Given the description of an element on the screen output the (x, y) to click on. 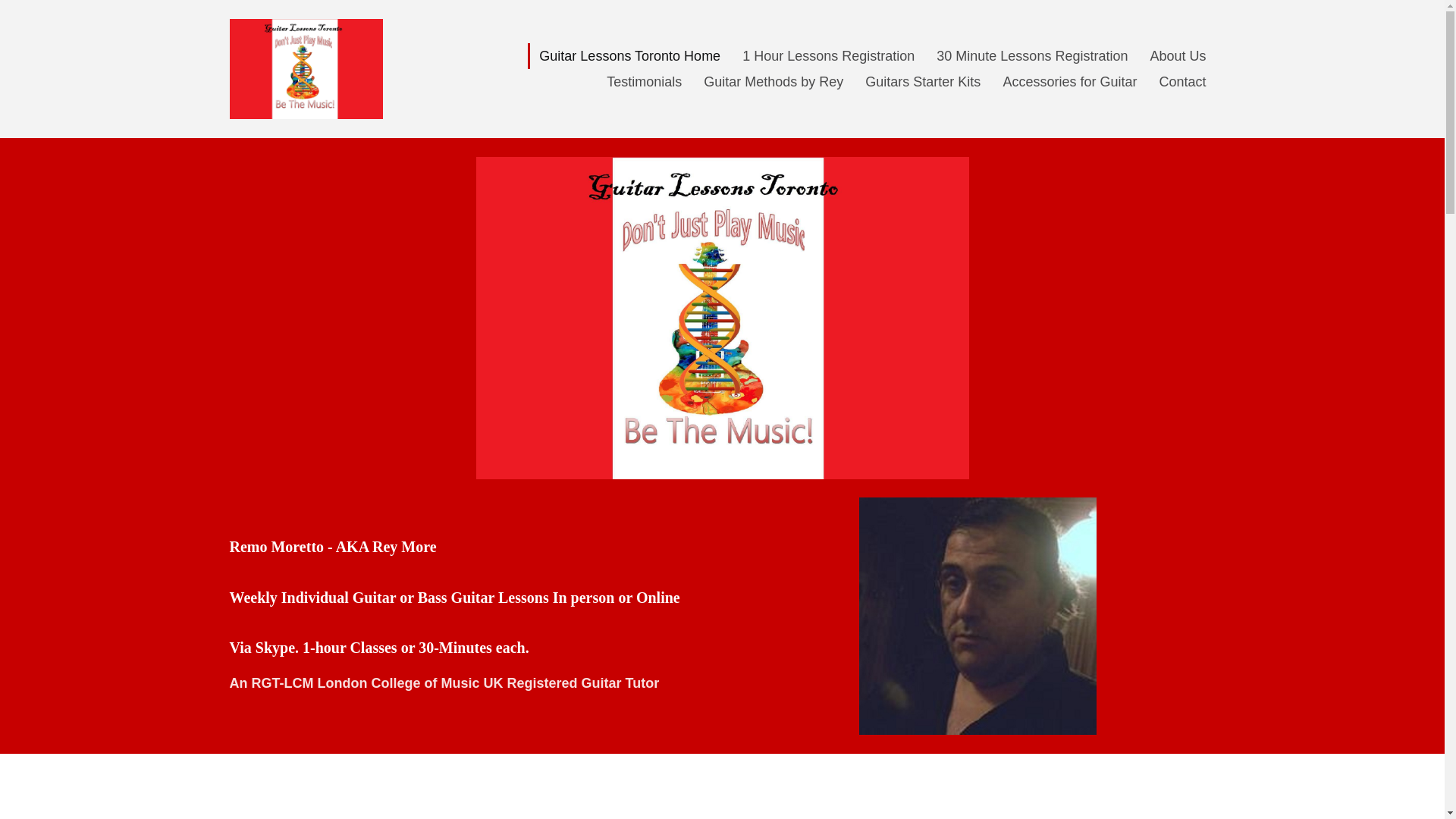
Guitar Lessons Toronto Home (628, 55)
30 Minute Lessons Registration (1032, 55)
Guitar Methods by Rey (772, 81)
Accessories for Guitar (1068, 81)
1 Hour Lessons Registration (828, 55)
Guitars Starter Kits (923, 81)
Testimonials (643, 81)
About Us (1177, 55)
Contact (1182, 81)
